Given the description of an element on the screen output the (x, y) to click on. 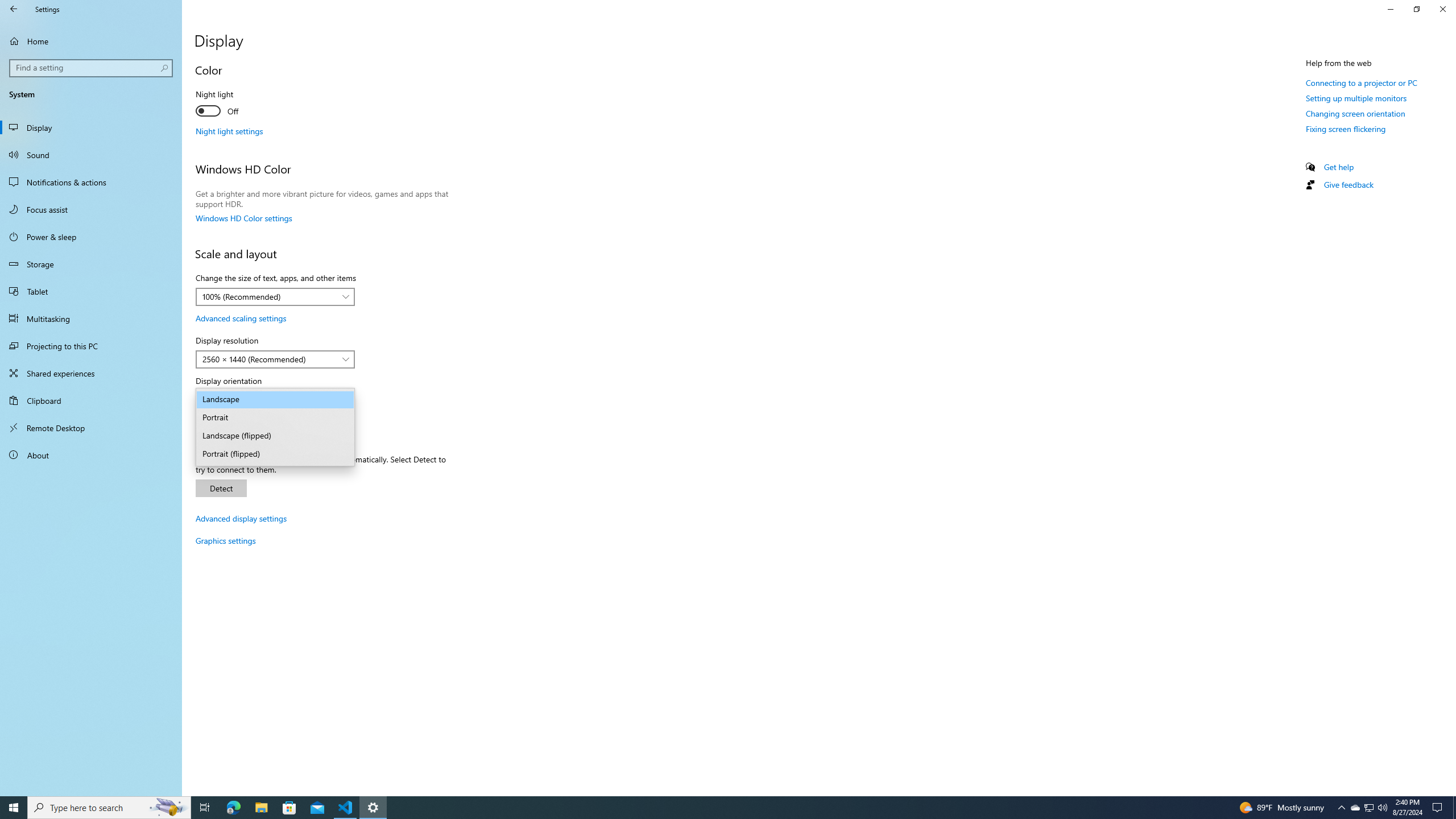
Restore Settings (1416, 9)
Shared experiences (91, 372)
Sound (91, 154)
Advanced display settings (1355, 807)
Night light settings (240, 518)
Connecting to a projector or PC (229, 130)
Get help (1361, 82)
Action Center, No new notifications (1338, 166)
Give feedback (1439, 807)
Advanced scaling settings (1348, 184)
Minimize Settings (240, 317)
Notification Chevron (1390, 9)
Multitasking (1341, 807)
